Given the description of an element on the screen output the (x, y) to click on. 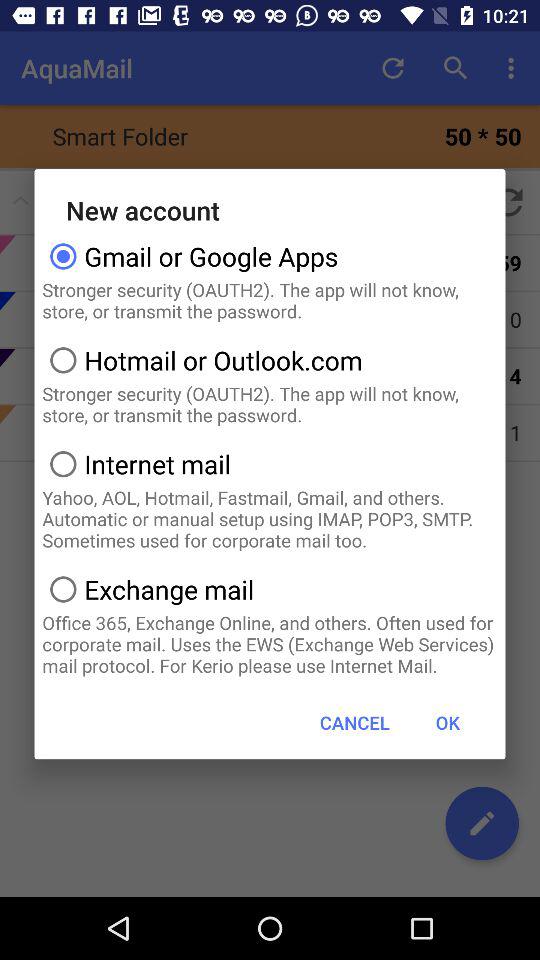
click the icon below office 365 exchange app (447, 722)
